Given the description of an element on the screen output the (x, y) to click on. 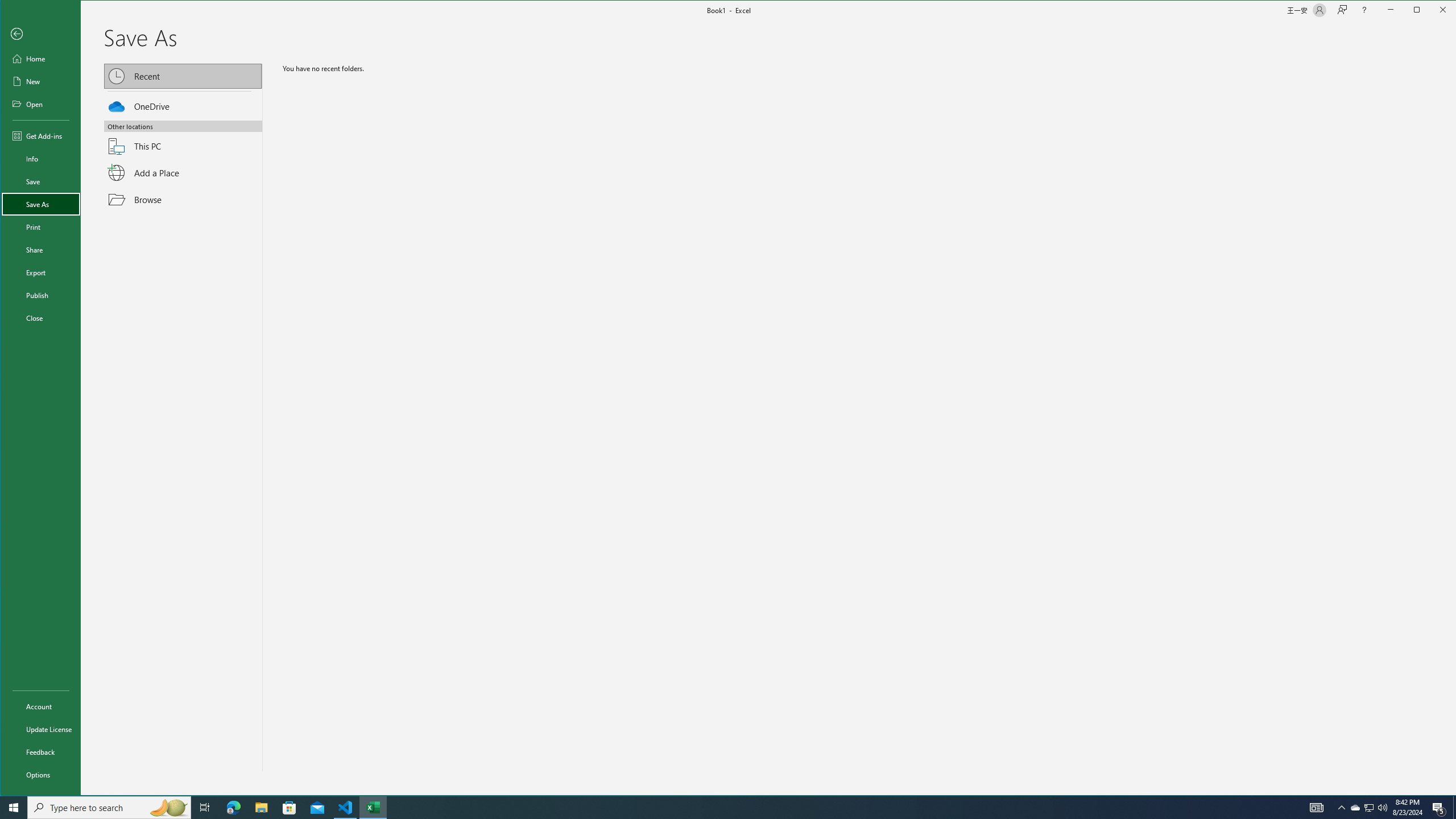
Options (1355, 807)
This PC (40, 774)
Update License (182, 139)
Get Add-ins (40, 728)
Visual Studio Code - 1 running window (40, 135)
Open (345, 807)
AutomationID: 4105 (40, 103)
Recent (1316, 807)
OneDrive (182, 75)
Close (182, 104)
Home (40, 317)
Account (40, 58)
Search highlights icon opens search home window (40, 706)
